Given the description of an element on the screen output the (x, y) to click on. 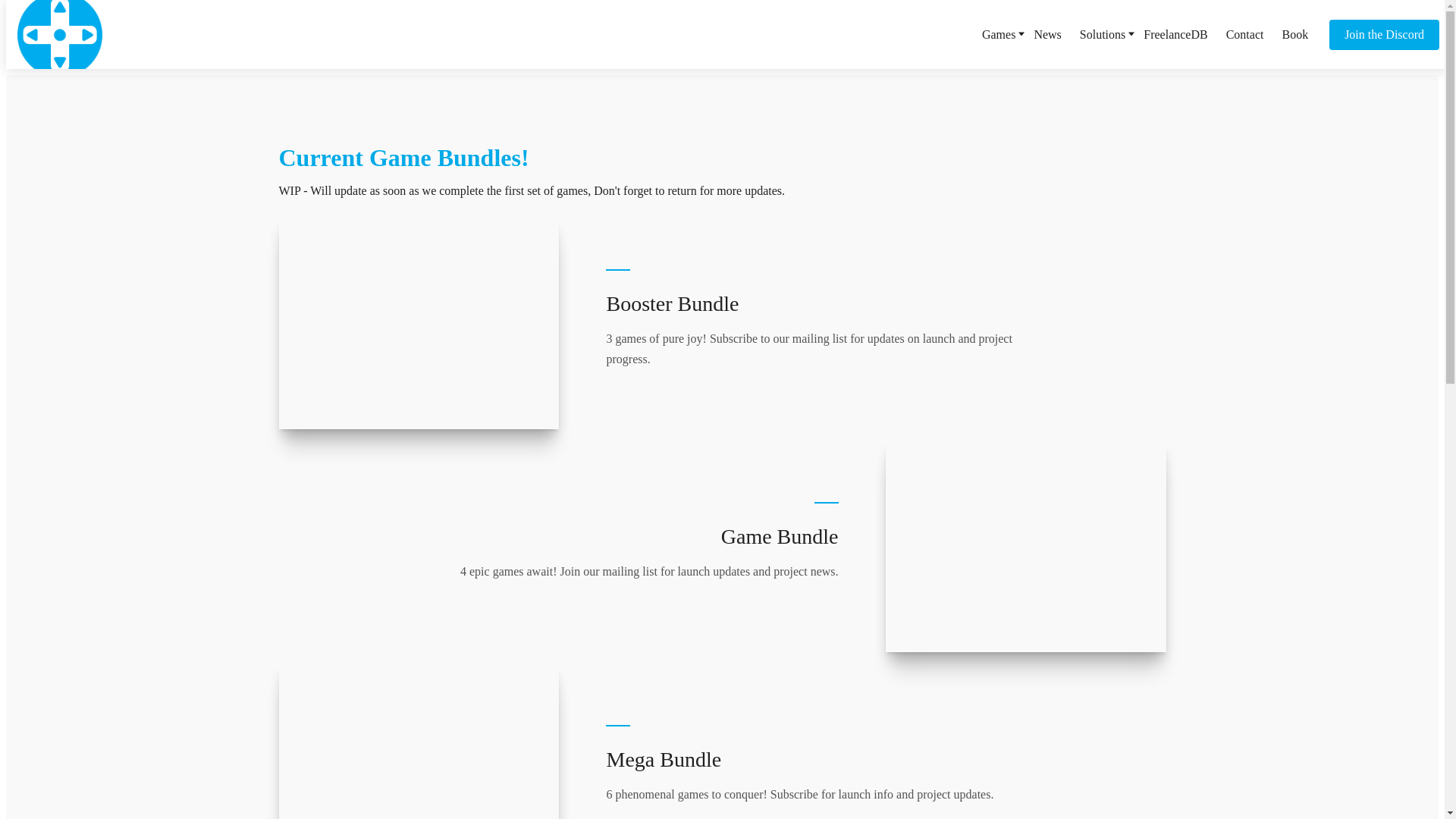
Contact (1244, 33)
FreelanceDB (1174, 33)
News (1047, 33)
Solutions (1102, 33)
Games (997, 33)
Book (1294, 33)
